Given the description of an element on the screen output the (x, y) to click on. 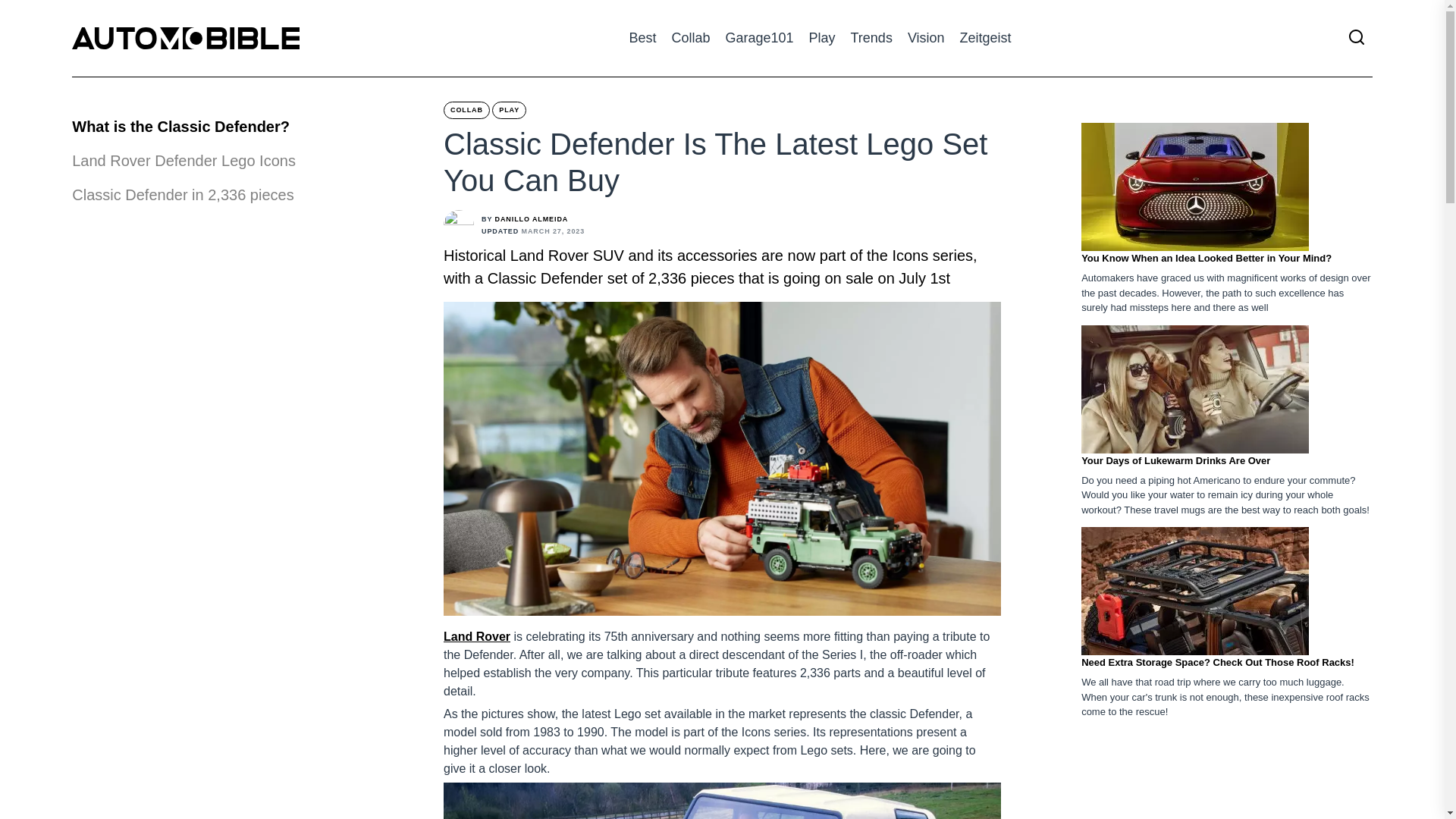
Your Days of Lukewarm Drinks Are Over (1175, 460)
DANILLO ALMEIDA (532, 218)
Land Rover (477, 635)
Collab (690, 38)
Best (642, 38)
Classic Defender in 2,336 pieces (182, 194)
Vision (925, 38)
Land Rover Defender Lego Icons (183, 160)
What is the Classic Defender? (183, 121)
PLAY (508, 109)
